Given the description of an element on the screen output the (x, y) to click on. 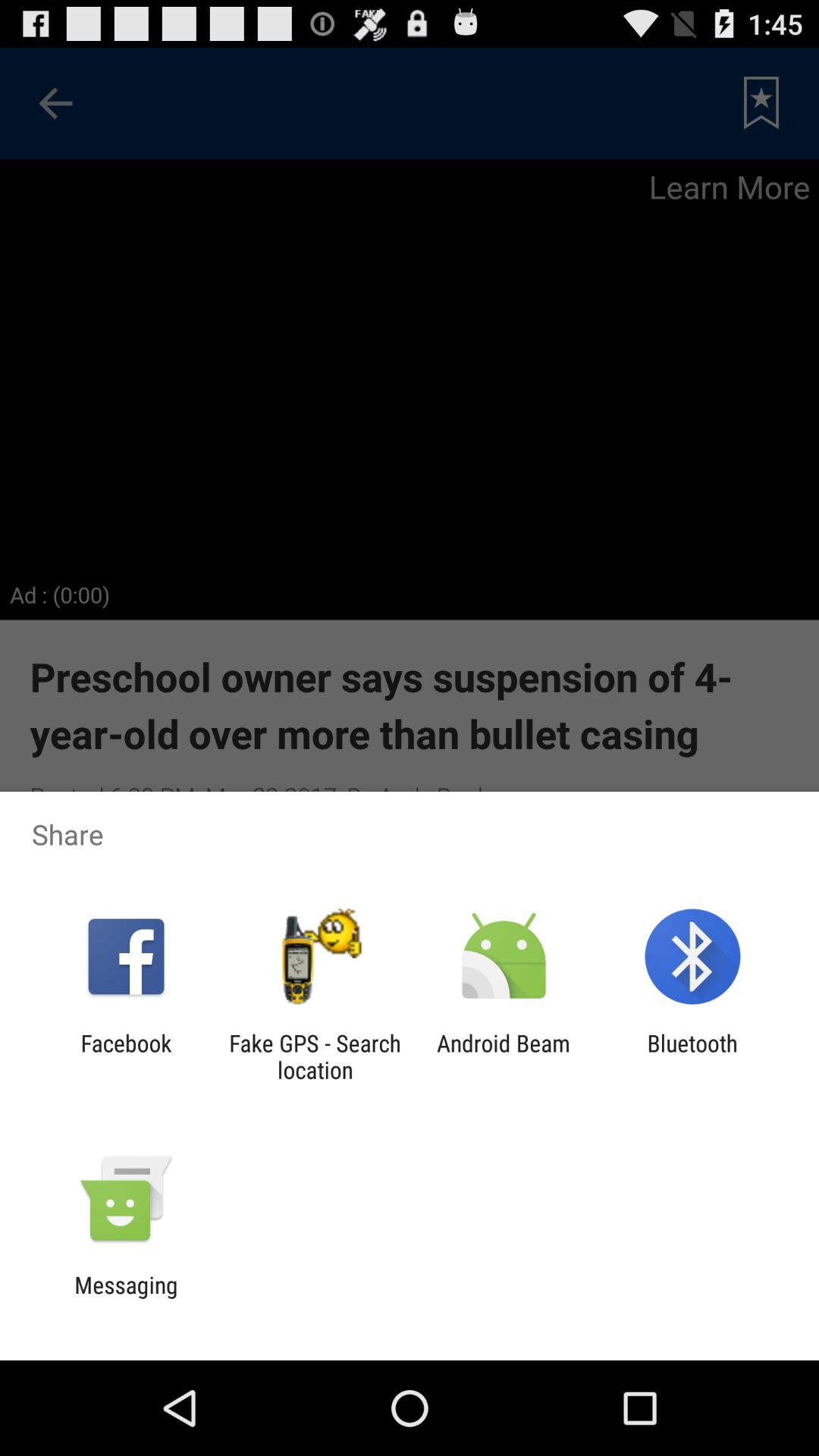
turn on the item to the right of fake gps search (503, 1056)
